Given the description of an element on the screen output the (x, y) to click on. 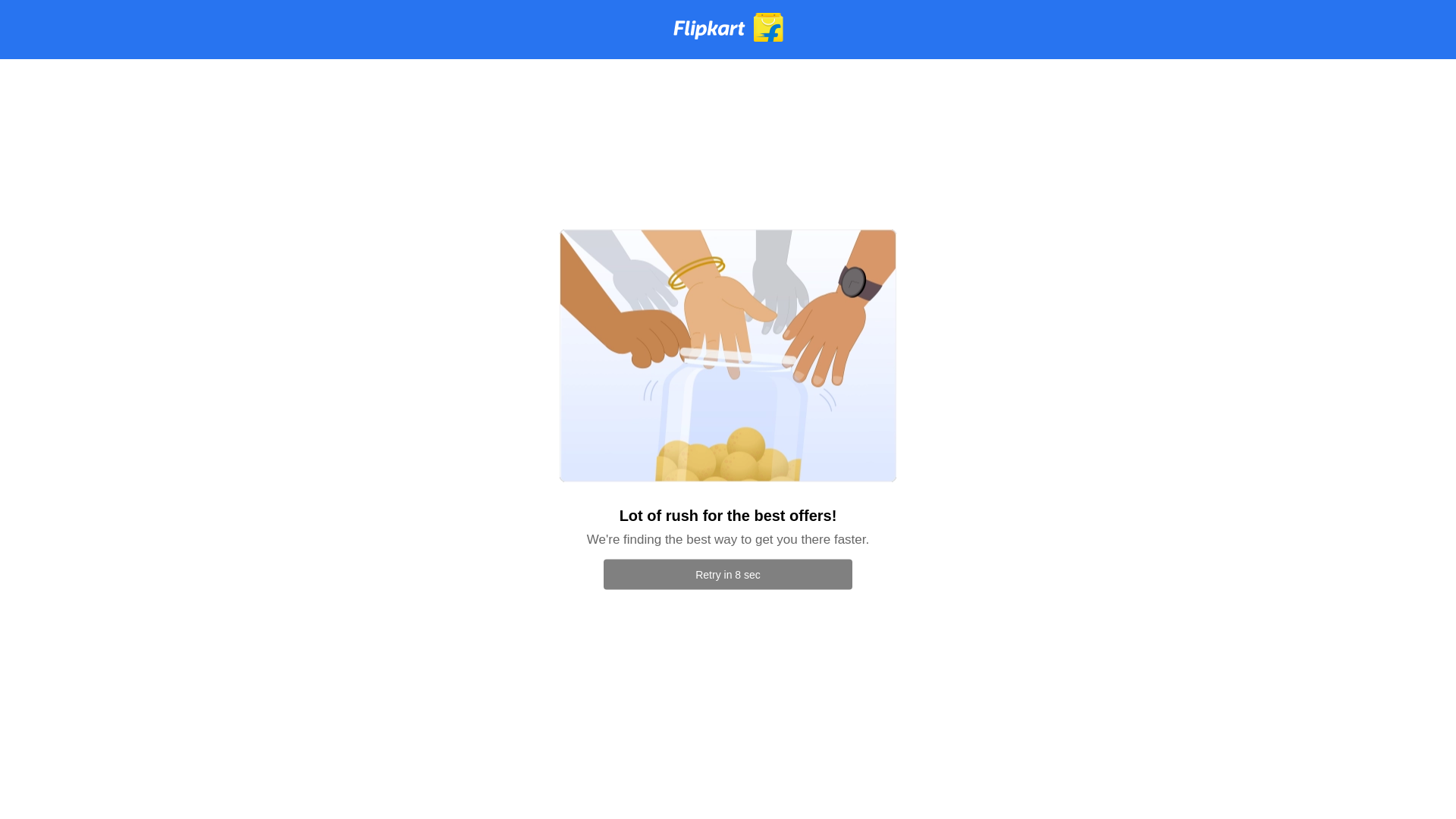
Retry in 8 sec (727, 574)
